Given the description of an element on the screen output the (x, y) to click on. 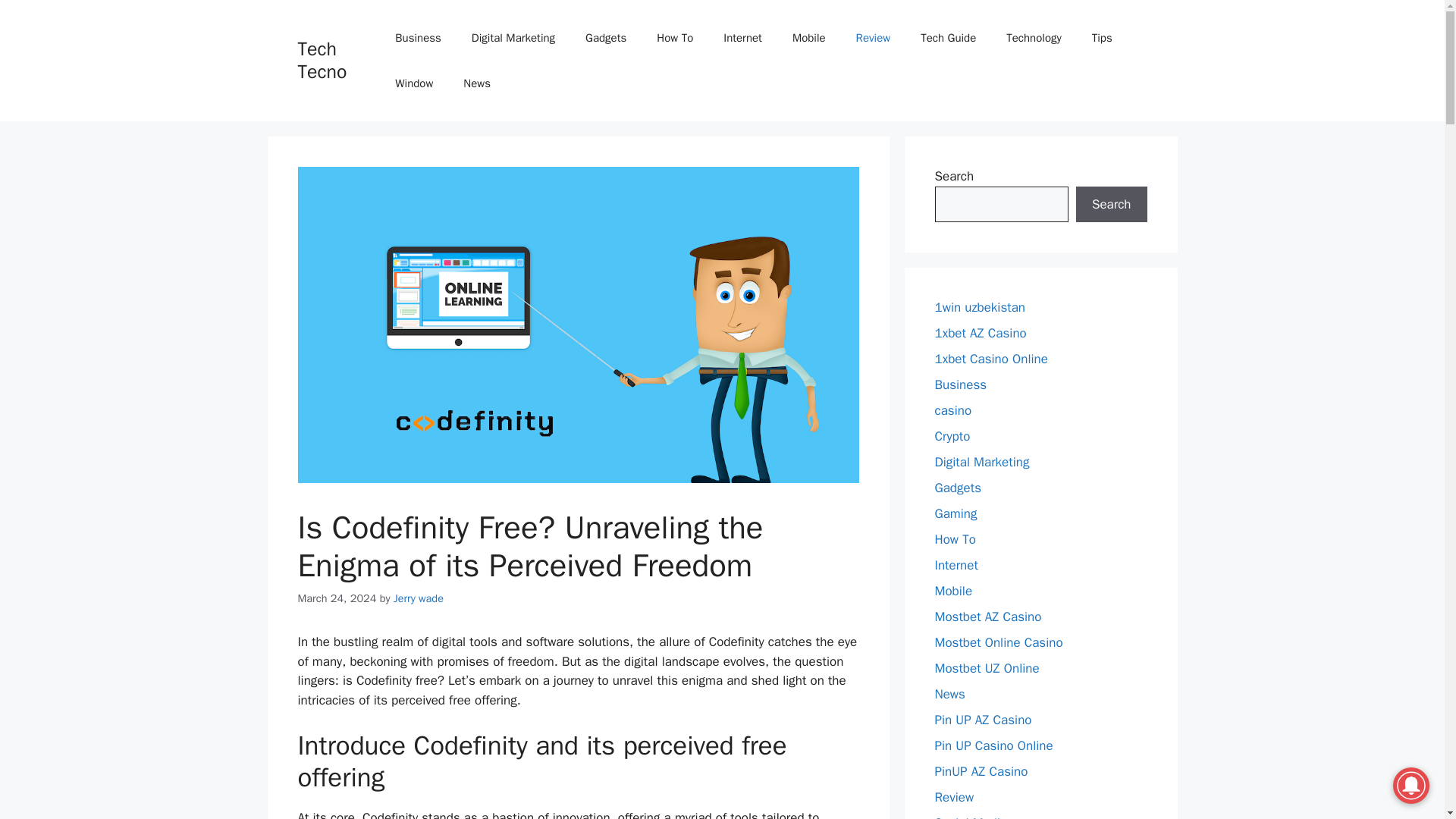
Digital Marketing (513, 37)
Mostbet AZ Casino (987, 616)
Internet (955, 565)
casino (952, 410)
Gadgets (606, 37)
Gadgets (956, 487)
Mobile (953, 590)
Crypto (951, 436)
News (476, 83)
Review (873, 37)
